Given the description of an element on the screen output the (x, y) to click on. 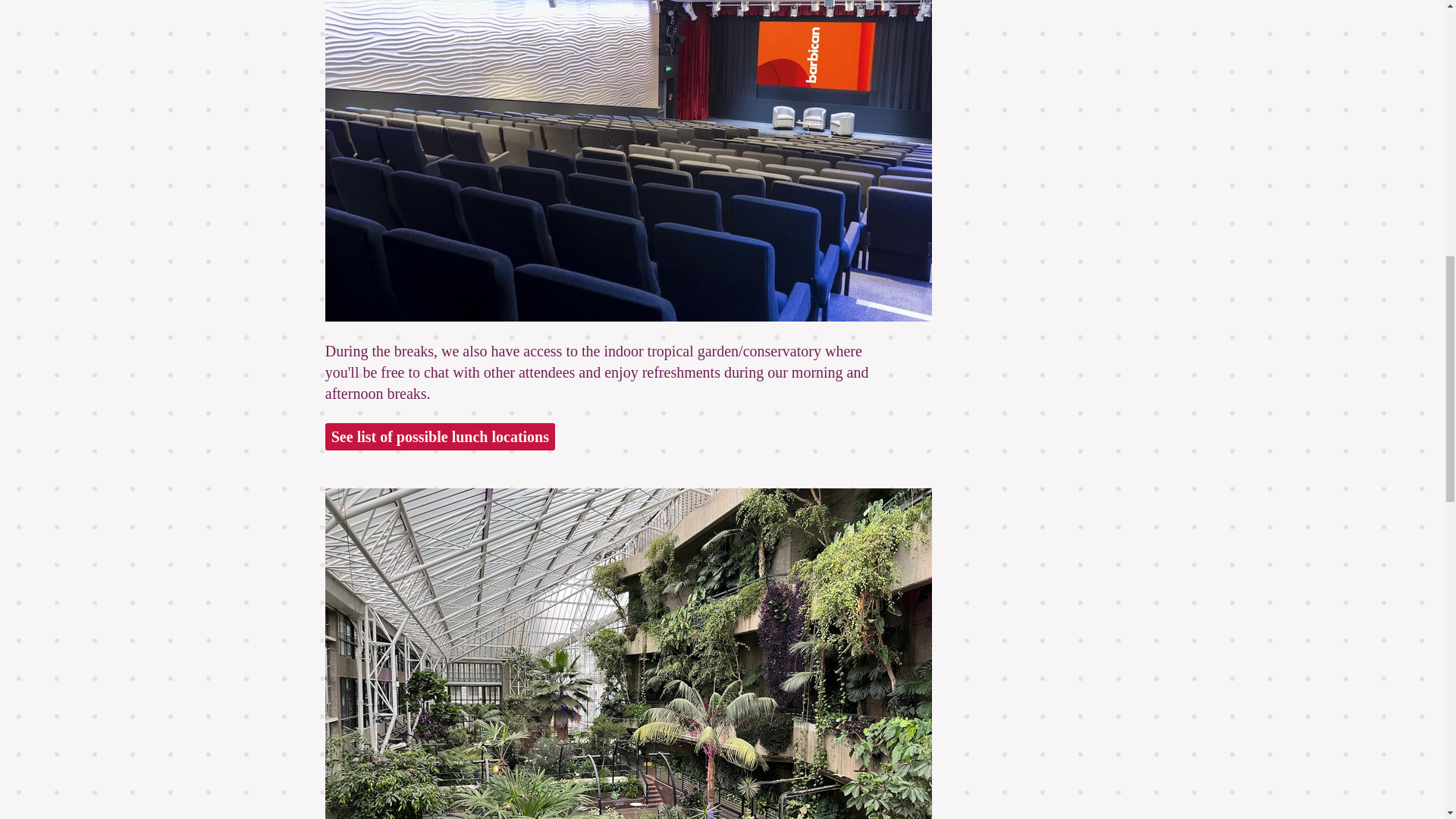
See list of possible lunch locations (439, 436)
